Given the description of an element on the screen output the (x, y) to click on. 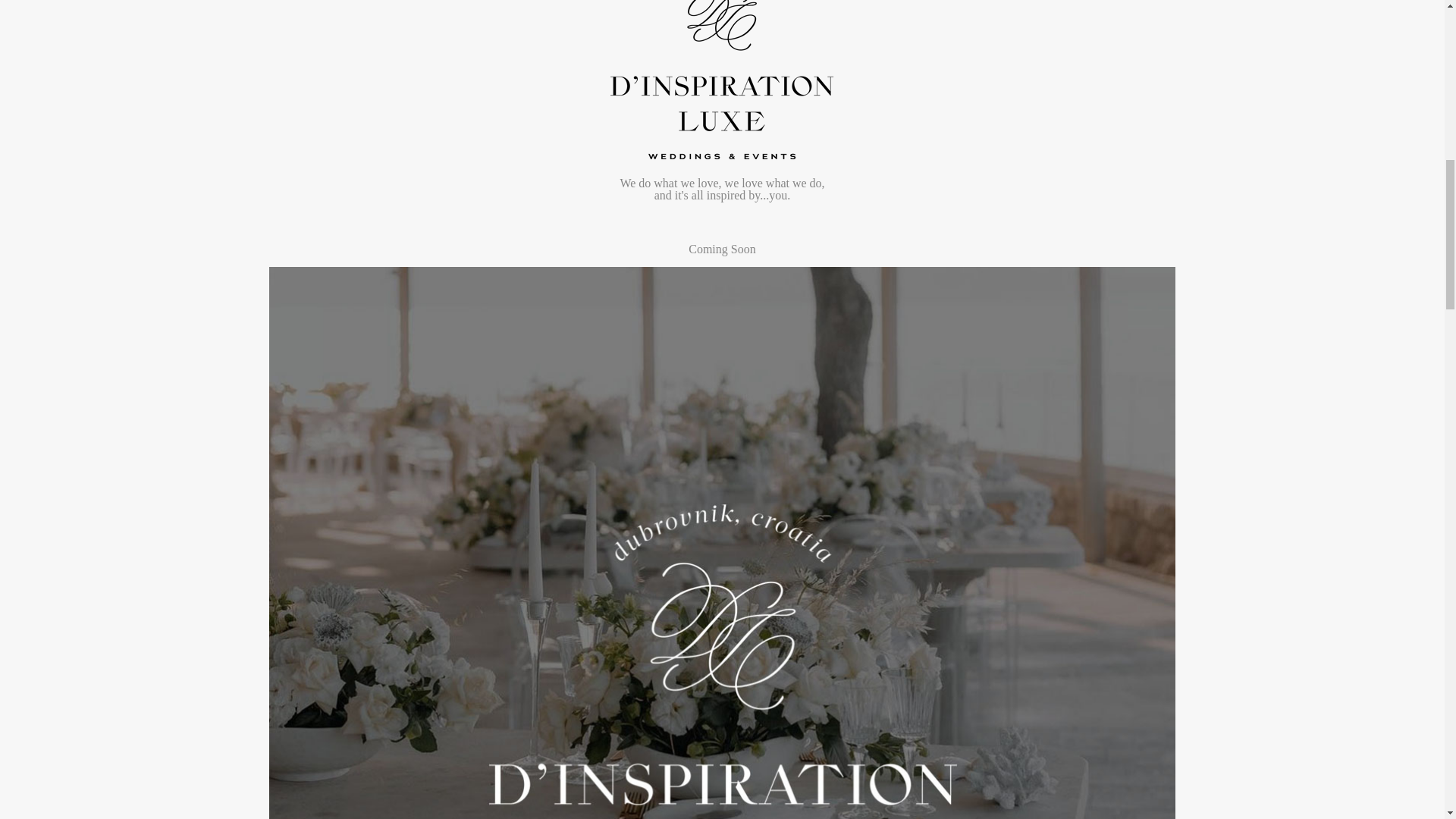
d'inspiration-luxe-logo-black (721, 80)
